Given the description of an element on the screen output the (x, y) to click on. 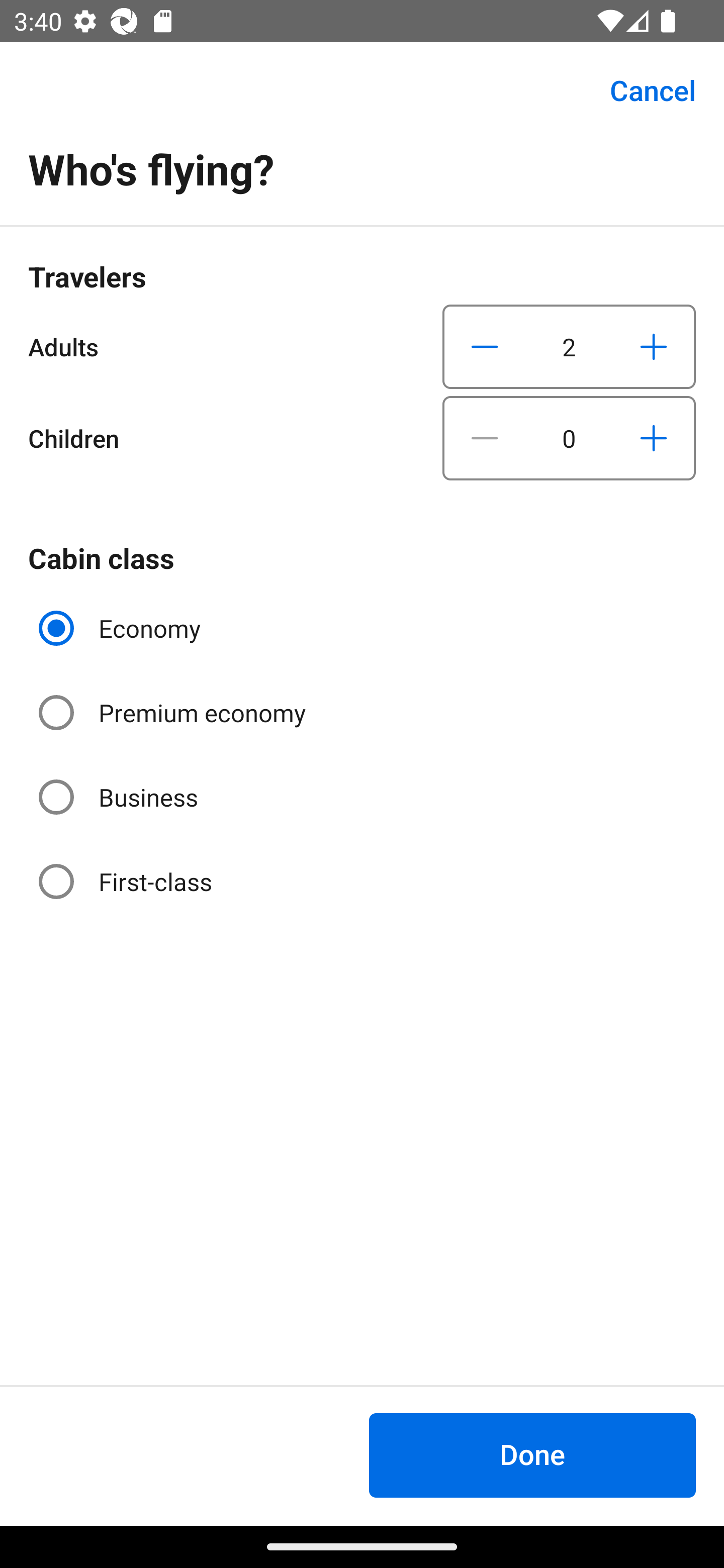
Cancel (641, 90)
Decrease (484, 346)
Increase (653, 346)
Decrease (484, 437)
Increase (653, 437)
Economy (121, 628)
Premium economy (174, 712)
Business (120, 796)
First-class (126, 880)
Done (532, 1454)
